Given the description of an element on the screen output the (x, y) to click on. 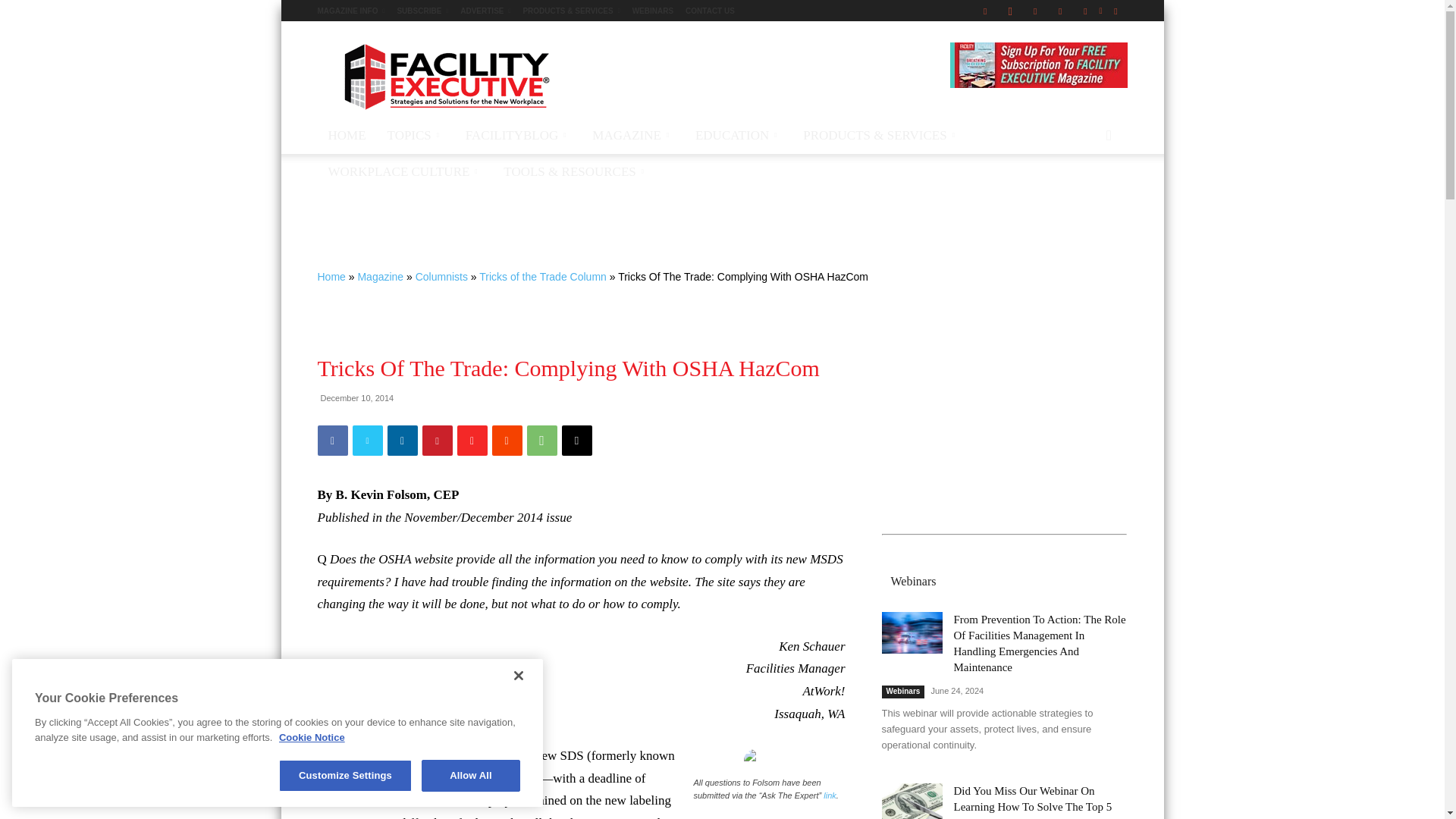
RSS (1085, 10)
Instagram (1010, 10)
Strategies and Solutions for the New Workplace (445, 76)
Linkedin (1034, 10)
Youtube (1114, 10)
Facebook (984, 10)
Pinterest (1059, 10)
